Given the description of an element on the screen output the (x, y) to click on. 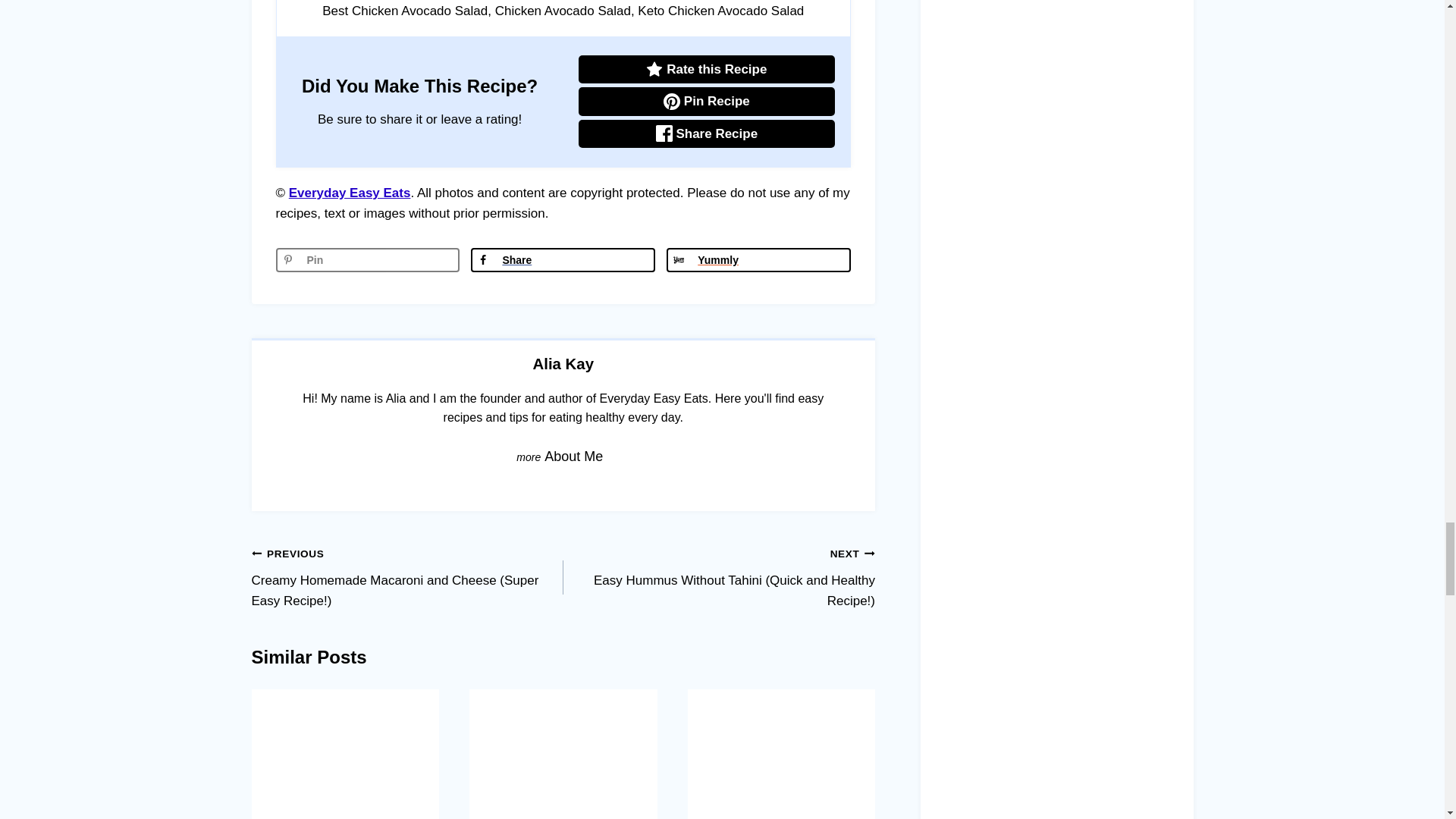
Share on Yummly (758, 259)
Posts by Alia Kay (563, 363)
Share on Facebook (562, 259)
Save to Pinterest (368, 259)
